Given the description of an element on the screen output the (x, y) to click on. 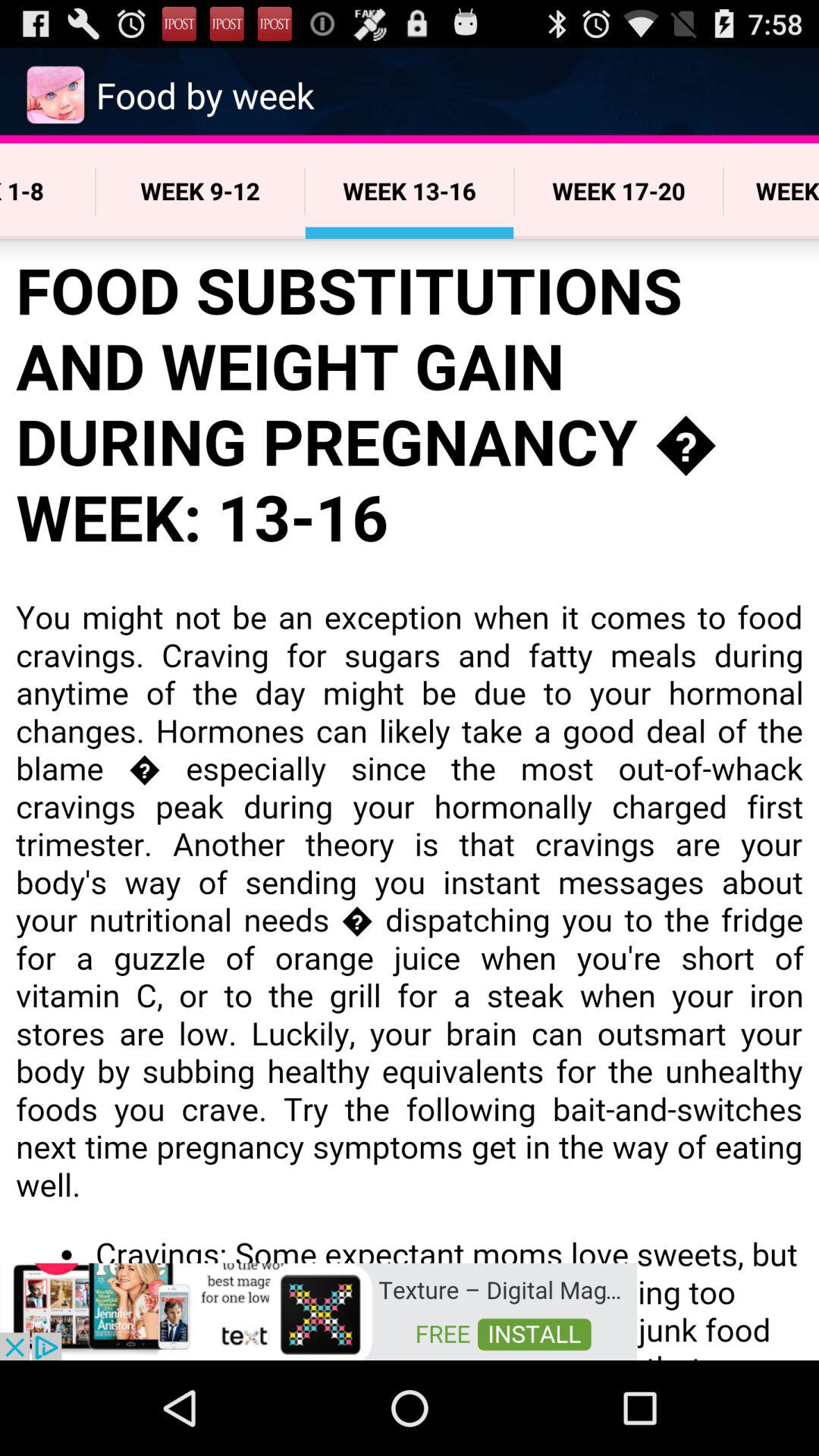
advertisement bar (318, 1310)
